Given the description of an element on the screen output the (x, y) to click on. 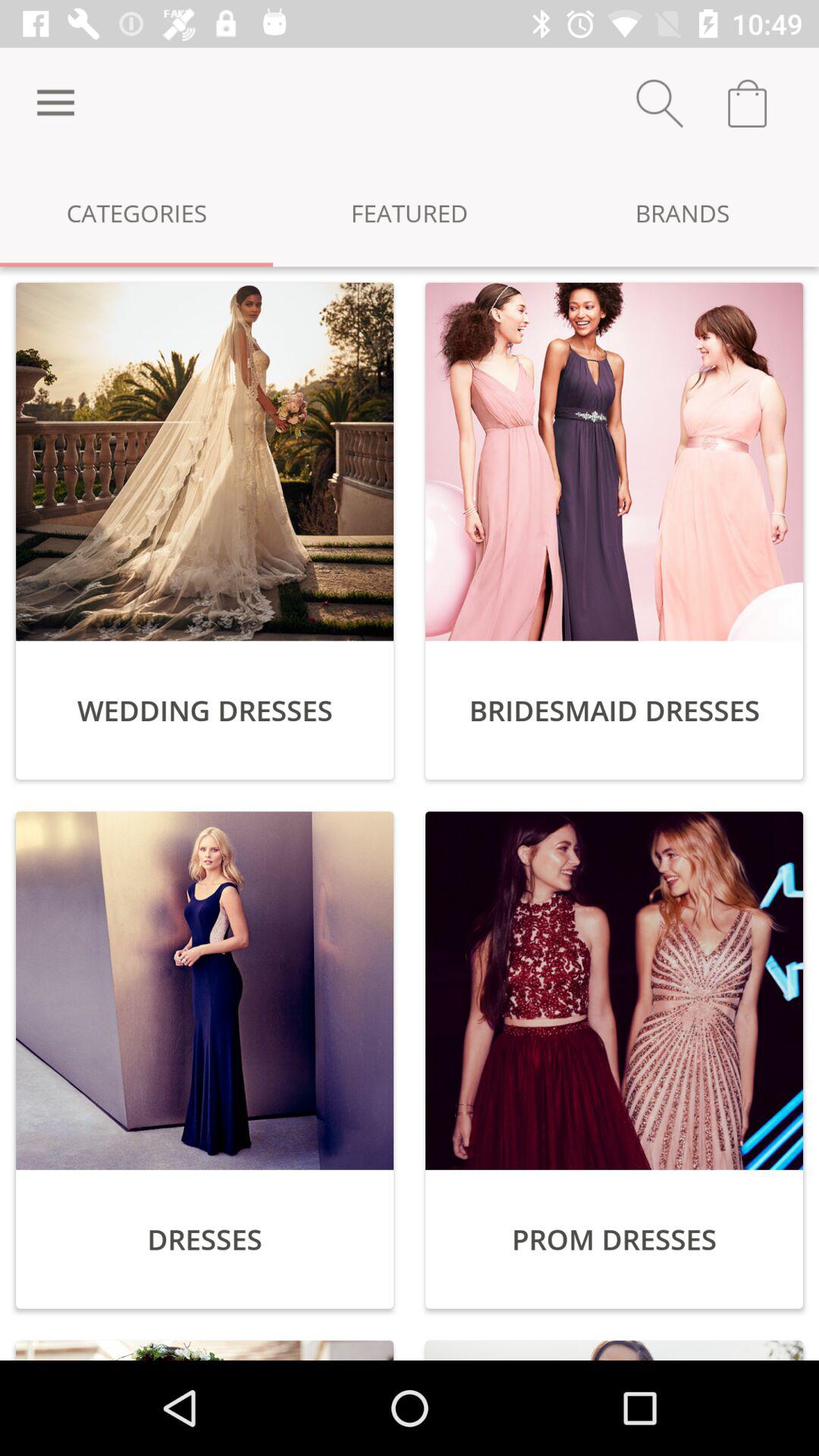
turn off the brands (682, 212)
